Given the description of an element on the screen output the (x, y) to click on. 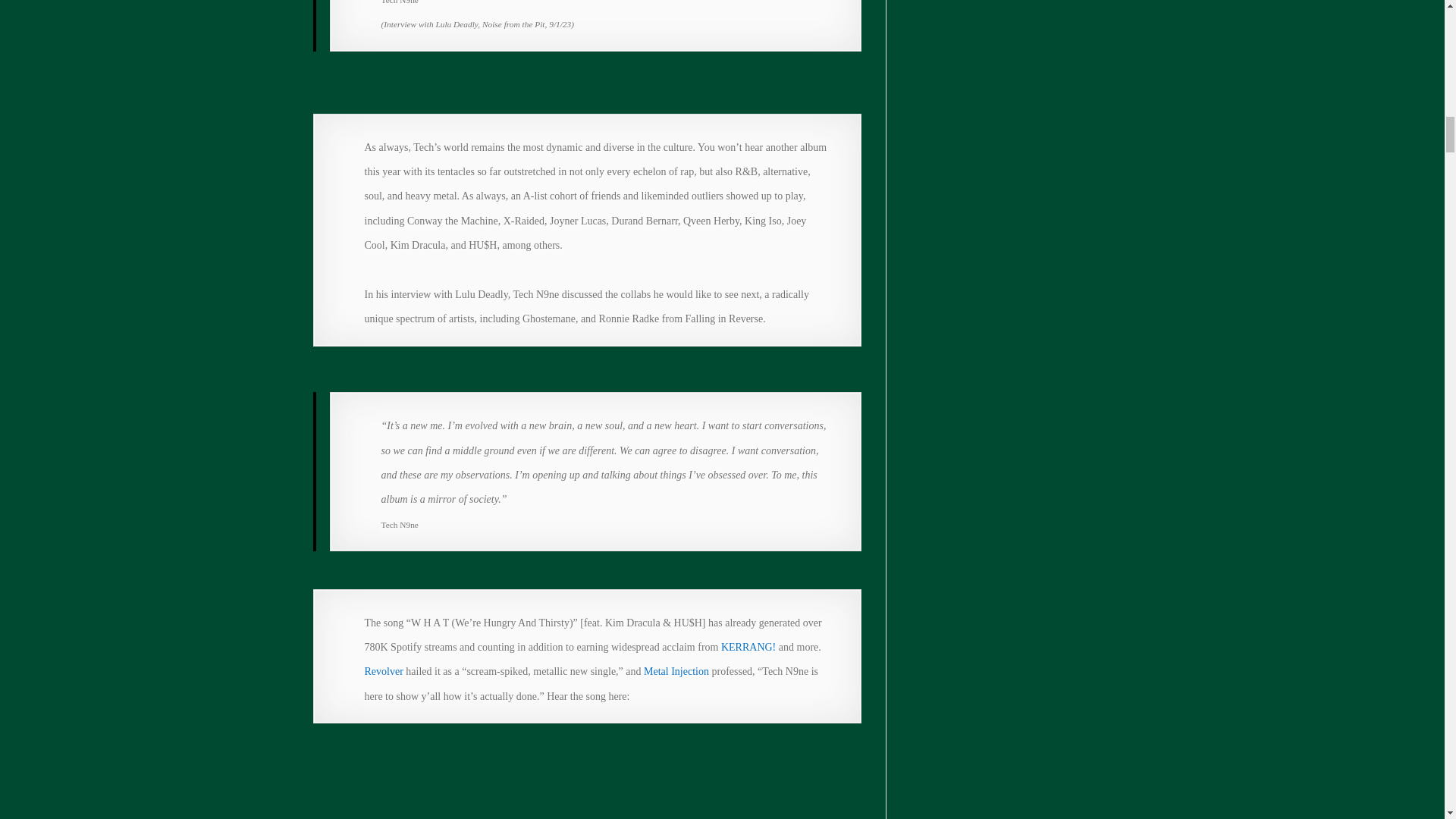
KERRANG! (746, 646)
Metal Injection (676, 671)
Revolver (385, 671)
